Given the description of an element on the screen output the (x, y) to click on. 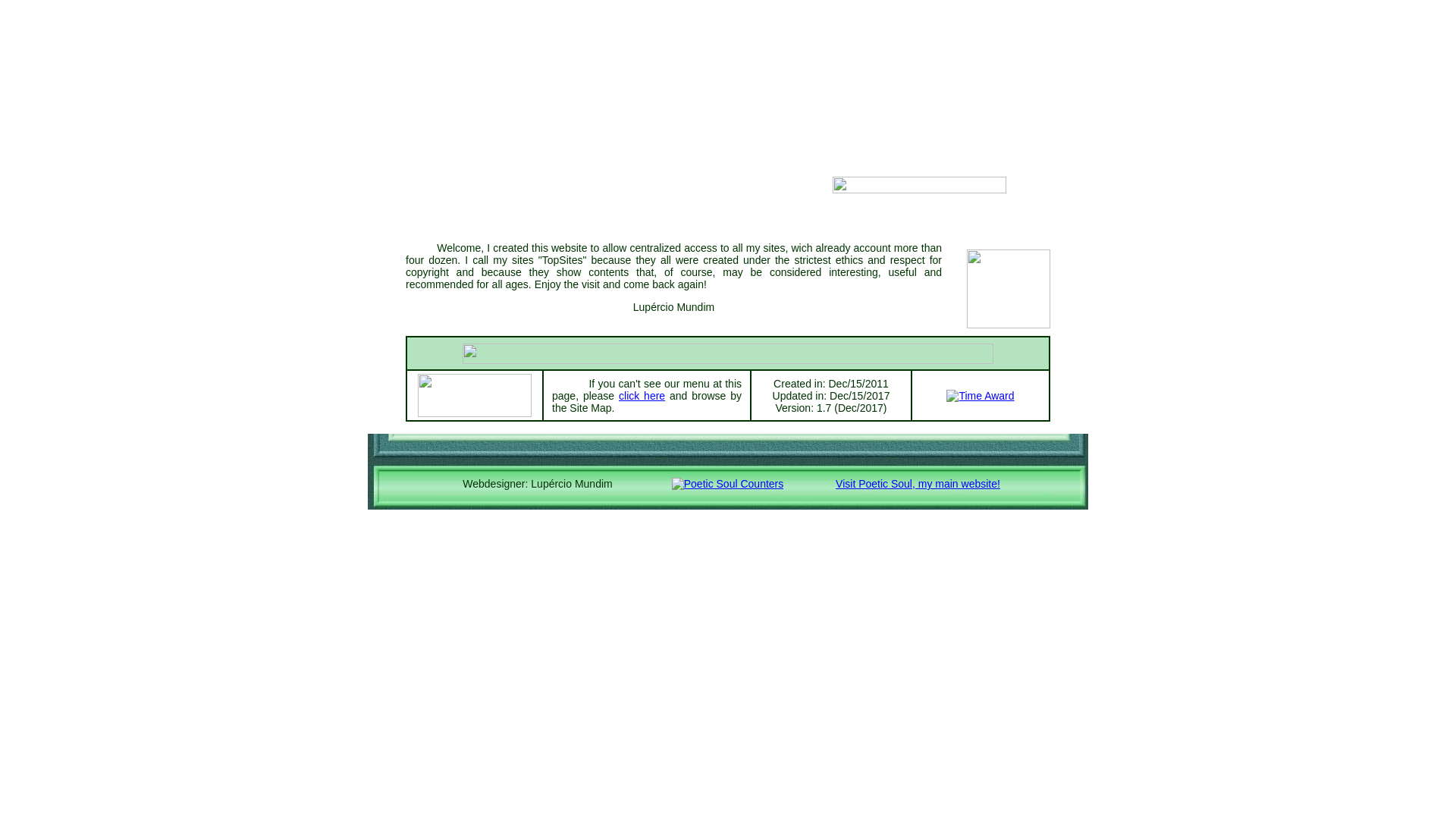
click here Element type: text (641, 395)
Visit Poetic Soul, my main website! Element type: text (917, 483)
